Given the description of an element on the screen output the (x, y) to click on. 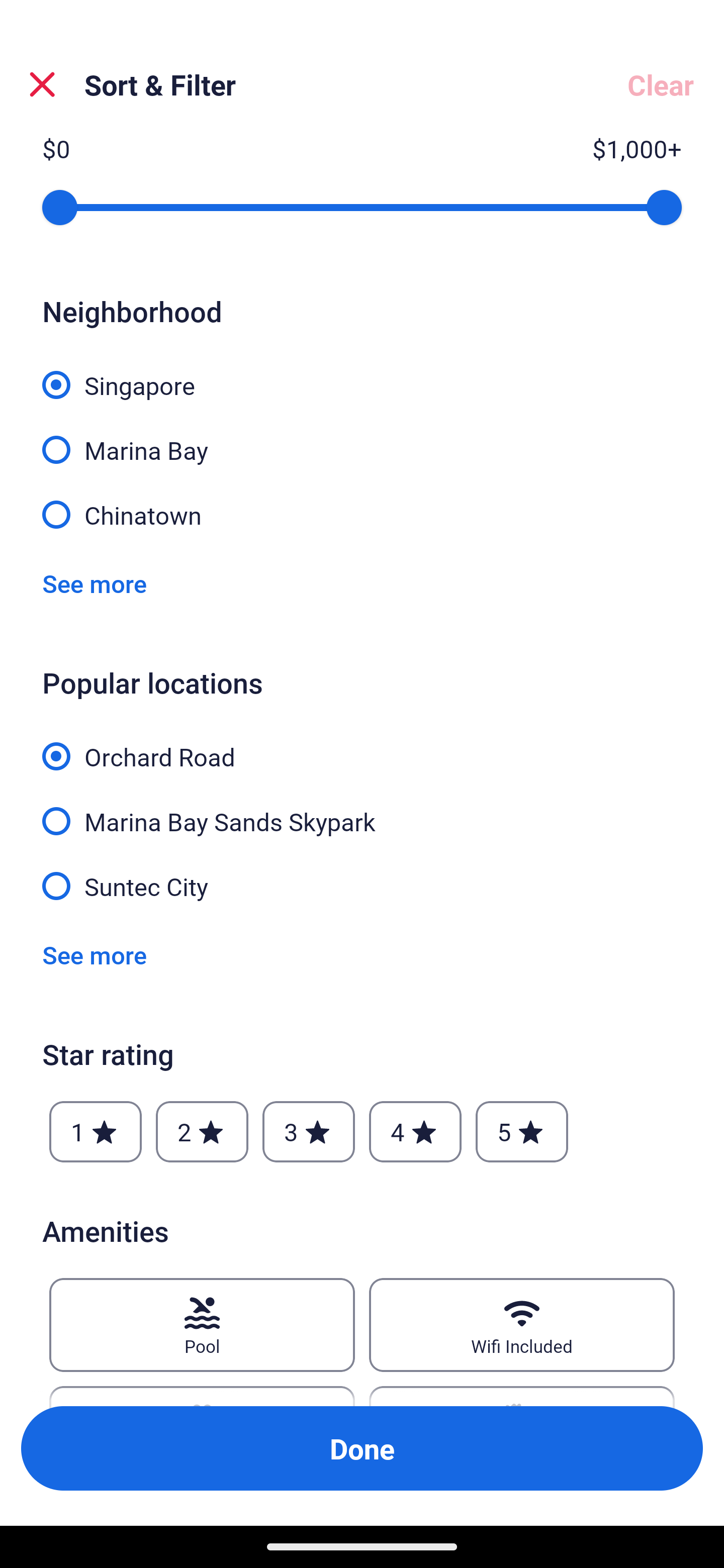
Close Sort and Filter (42, 84)
Clear (660, 84)
Marina Bay (361, 438)
Chinatown (361, 513)
See more See more neighborhoods Link (93, 582)
Marina Bay Sands Skypark (361, 810)
Suntec City (361, 884)
See more See more popular locations Link (93, 954)
1 (95, 1131)
2 (201, 1131)
3 (308, 1131)
4 (415, 1131)
5 (521, 1131)
Pool (201, 1324)
Wifi Included (521, 1324)
Apply and close Sort and Filter Done (361, 1448)
